Given the description of an element on the screen output the (x, y) to click on. 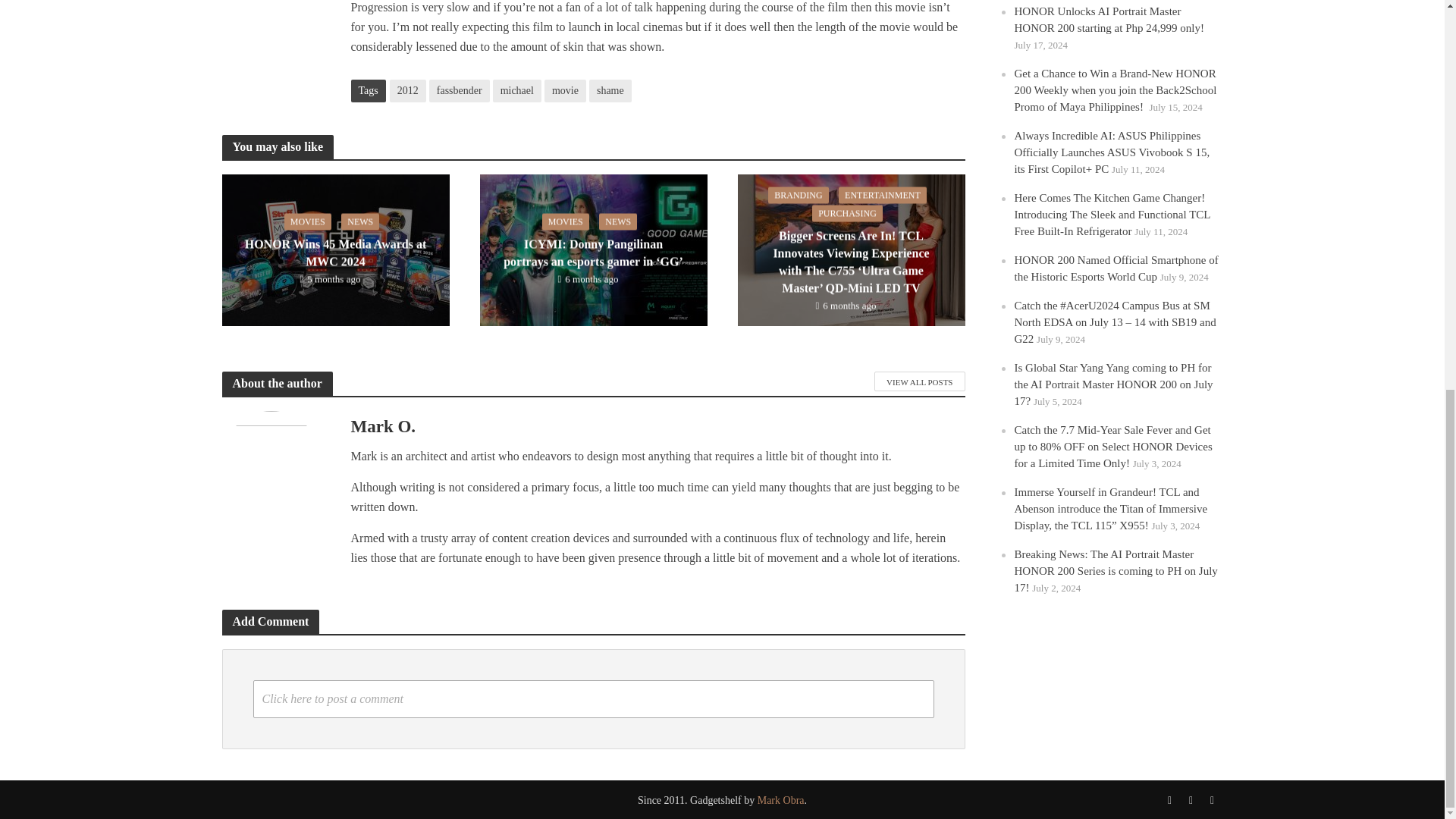
HONOR Wins 45 Media Awards at MWC 2024 (334, 248)
